Given the description of an element on the screen output the (x, y) to click on. 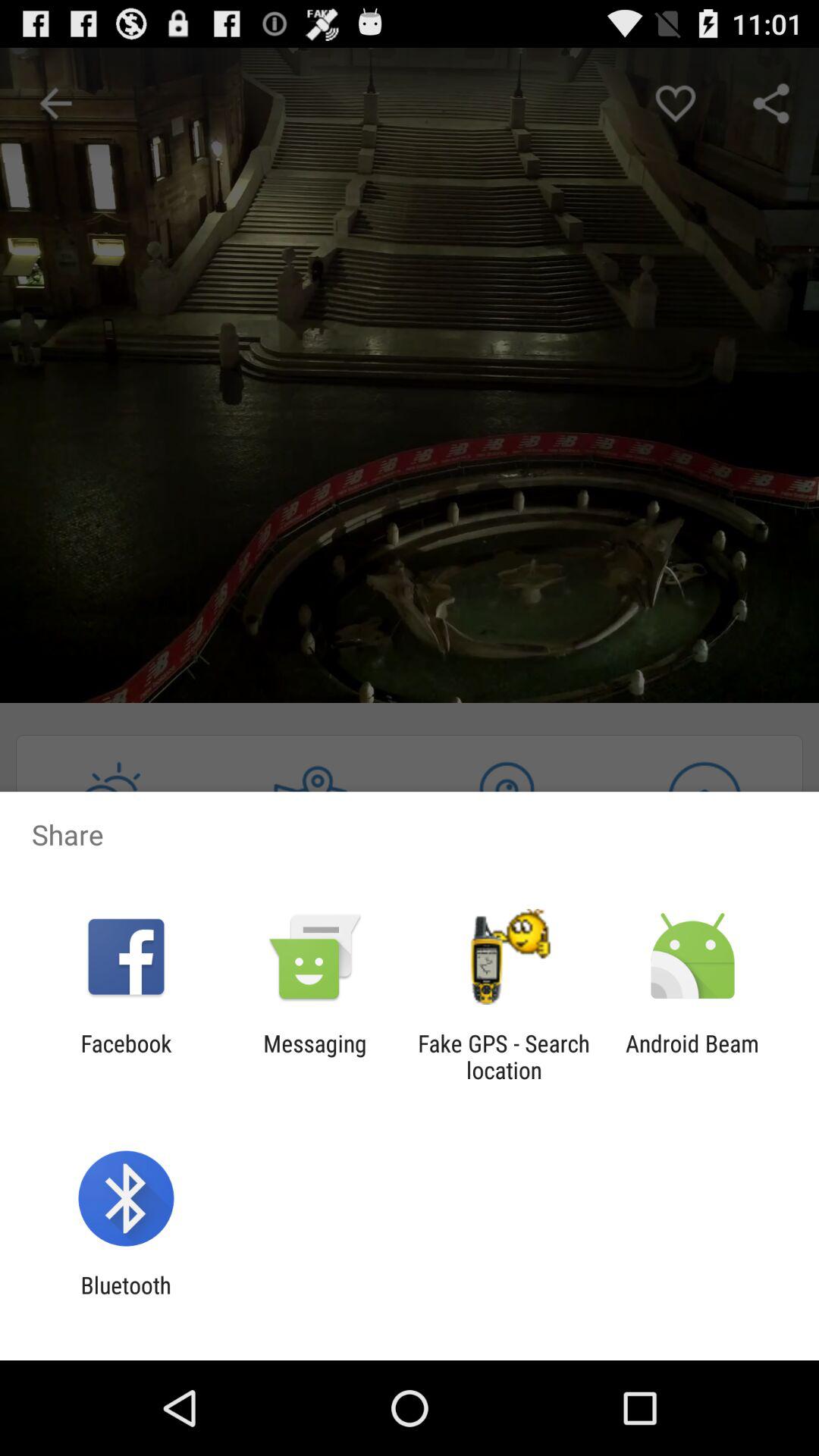
open app next to the facebook icon (314, 1056)
